Given the description of an element on the screen output the (x, y) to click on. 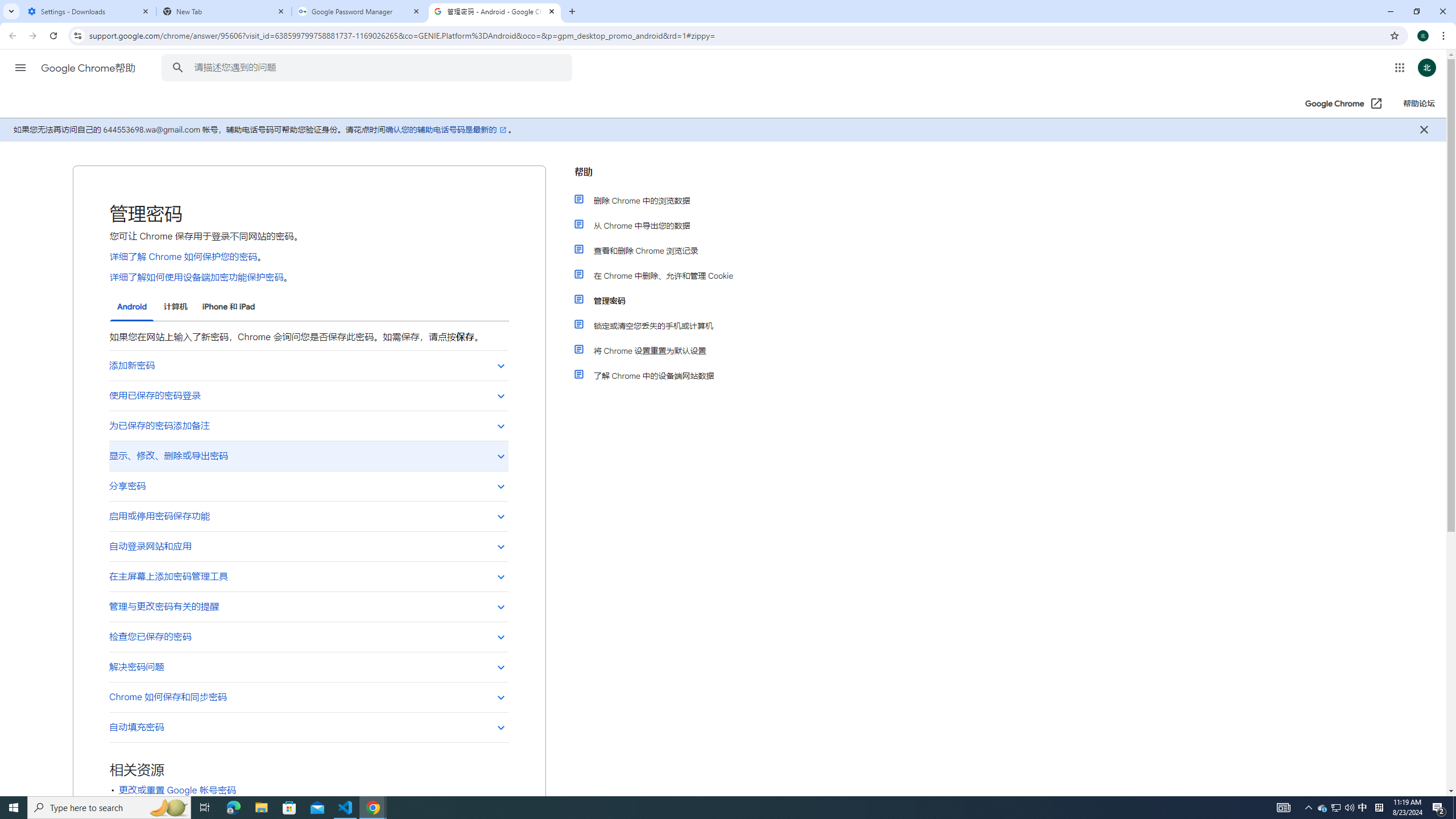
Android (131, 307)
